Given the description of an element on the screen output the (x, y) to click on. 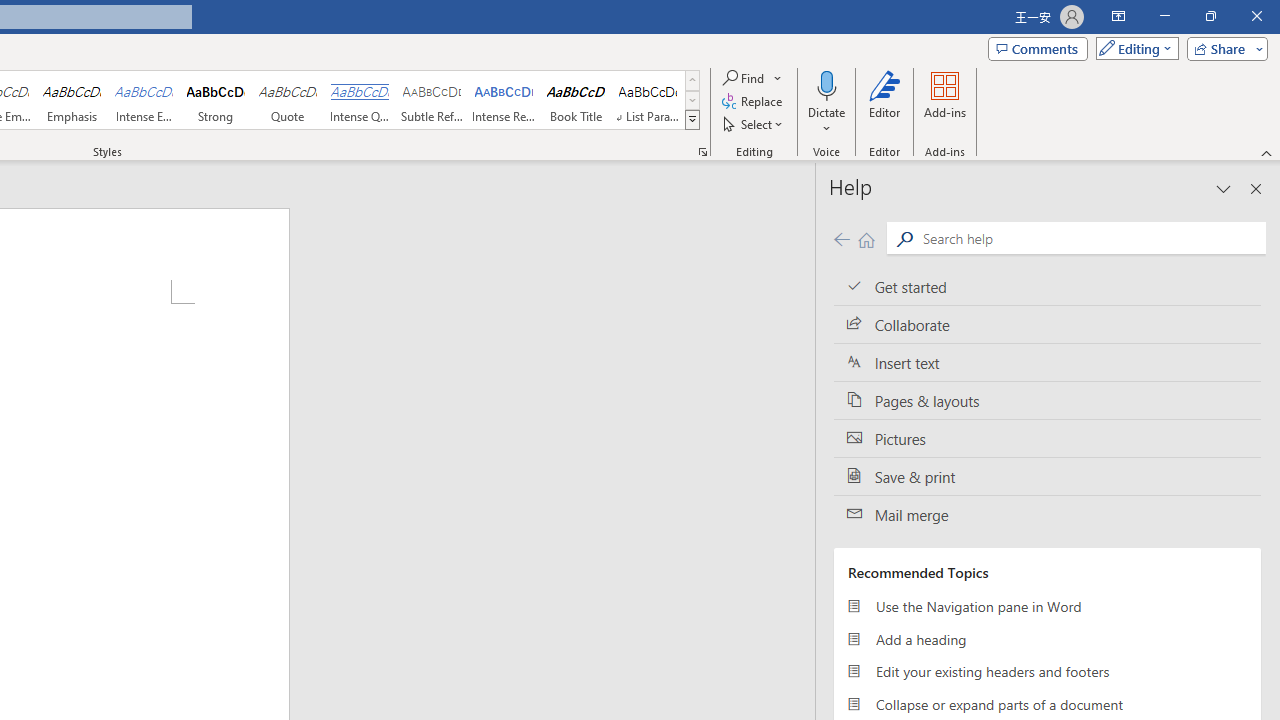
Use the Navigation pane in Word (1047, 605)
Quote (287, 100)
